Given the description of an element on the screen output the (x, y) to click on. 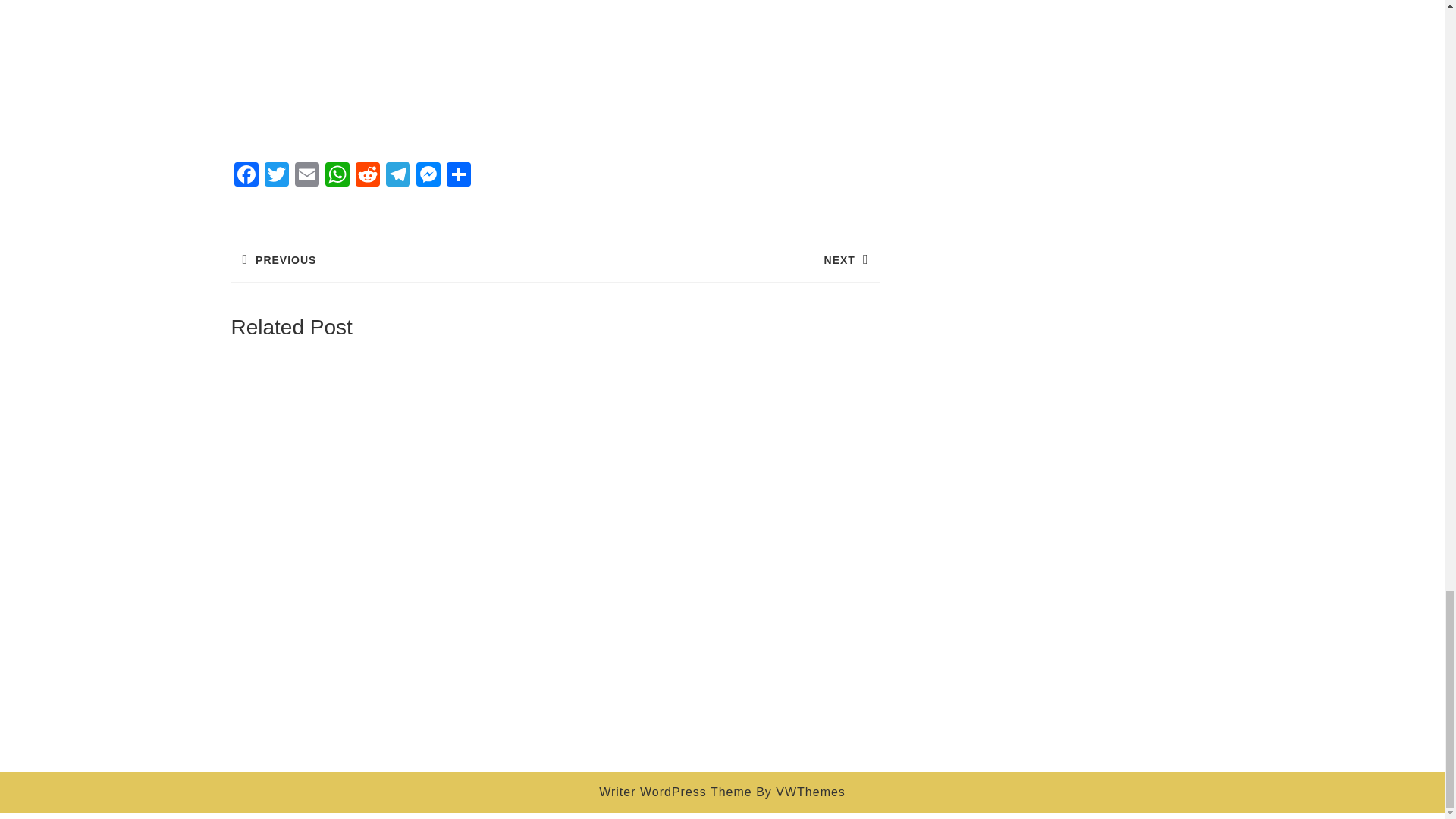
WhatsApp (336, 176)
IAS 18 Revenue - summary (554, 71)
Facebook (245, 176)
Messenger (427, 176)
Email (306, 176)
Twitter (275, 176)
Telegram (396, 176)
Facebook (245, 176)
Email (306, 176)
WhatsApp (336, 176)
